Given the description of an element on the screen output the (x, y) to click on. 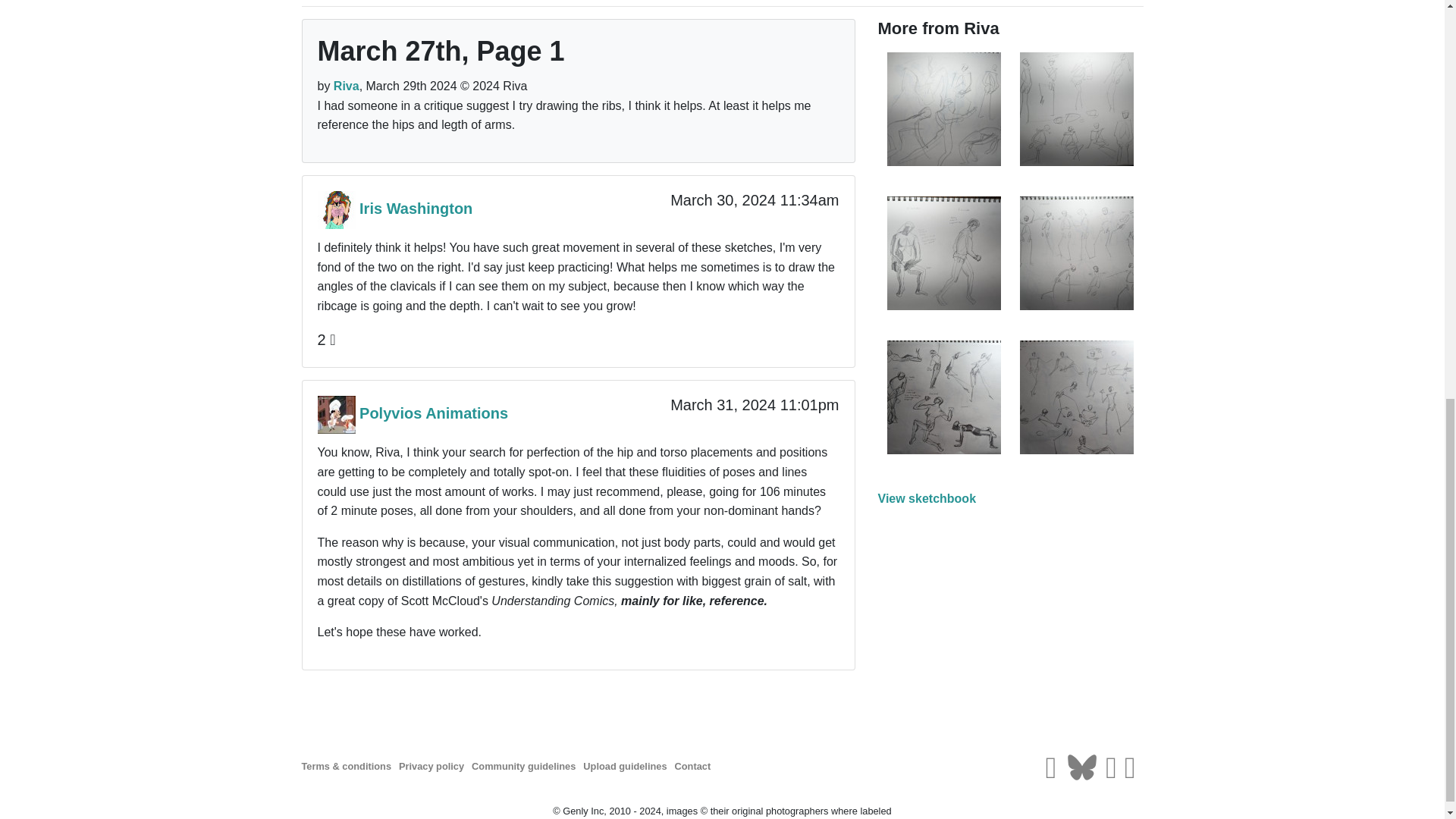
2 Reactions of Encouraging (325, 339)
